Given the description of an element on the screen output the (x, y) to click on. 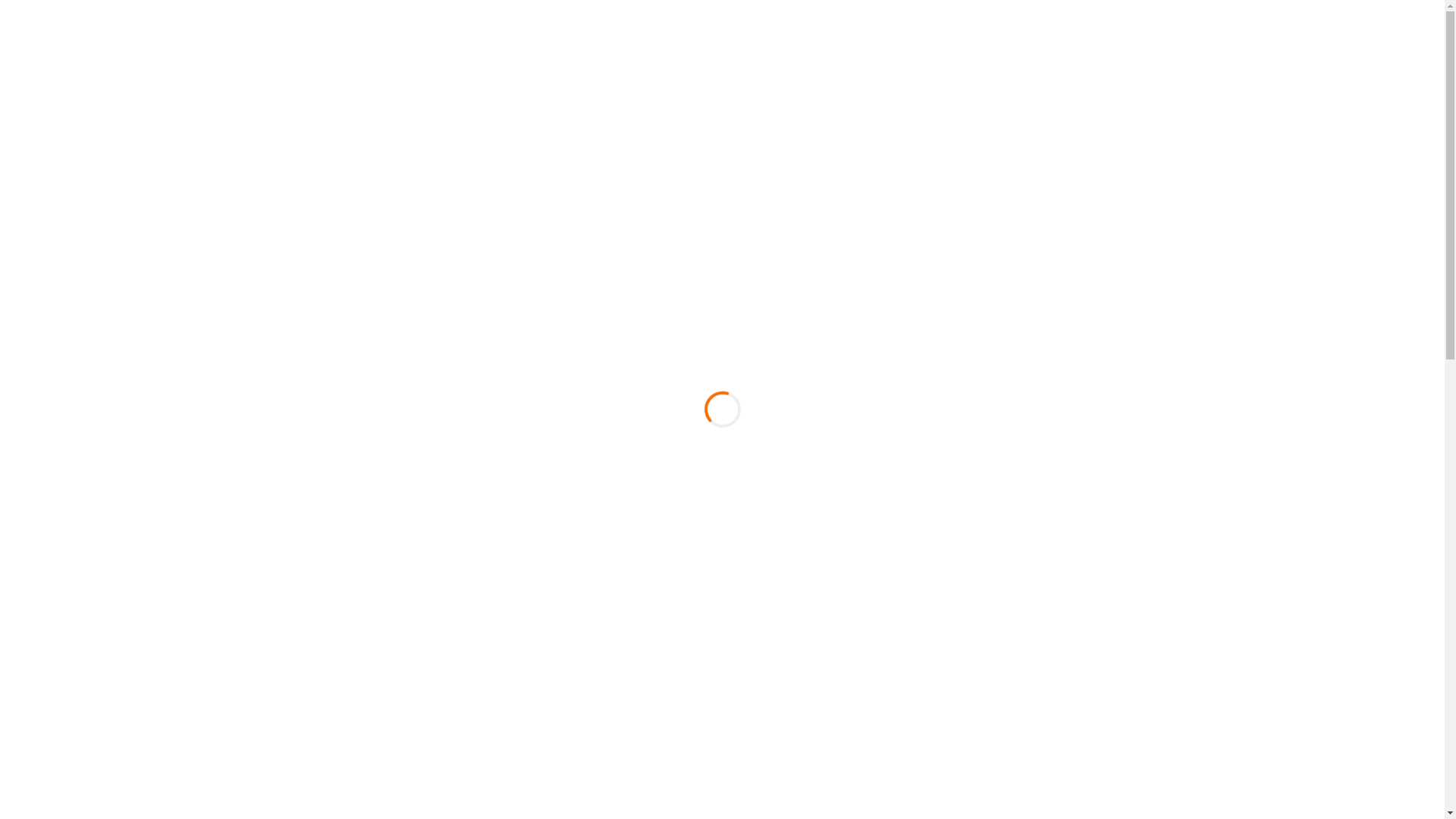
Ru Element type: text (1064, 11)
Twitter Element type: text (324, 11)
Az Element type: text (1020, 11)
Facebook Element type: text (305, 11)
Struktur Element type: text (510, 121)
En Element type: text (1041, 11)
Googleplus Element type: text (343, 11)
